Given the description of an element on the screen output the (x, y) to click on. 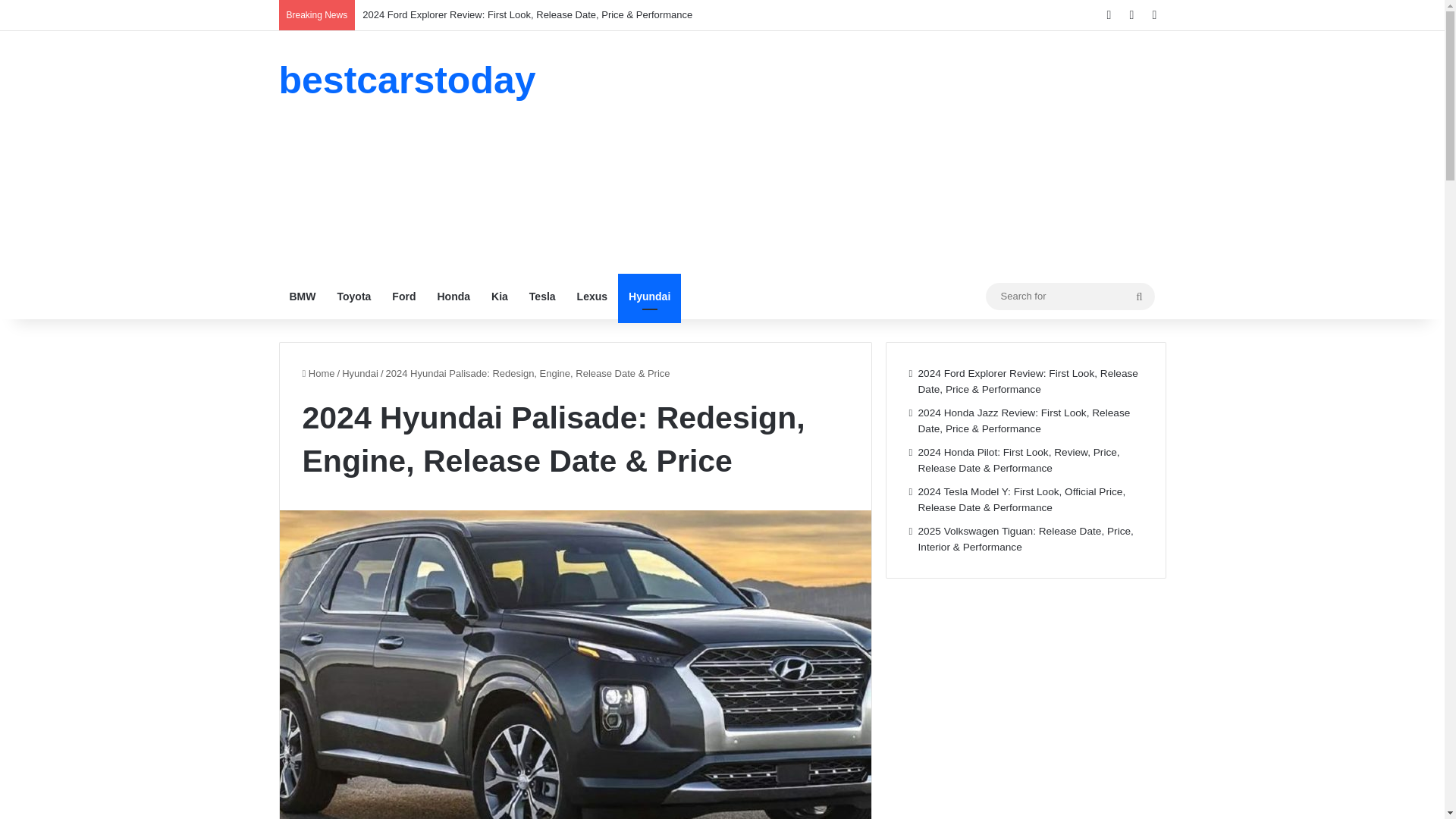
bestcarstoday (407, 80)
Home (317, 373)
Hyundai (360, 373)
Ford (403, 296)
Search for (1069, 295)
Tesla (542, 296)
BMW (302, 296)
Advertisement (874, 151)
Search for (1139, 296)
Honda (453, 296)
Toyota (353, 296)
Hyundai (649, 296)
Lexus (591, 296)
bestcarstoday (407, 80)
